Given the description of an element on the screen output the (x, y) to click on. 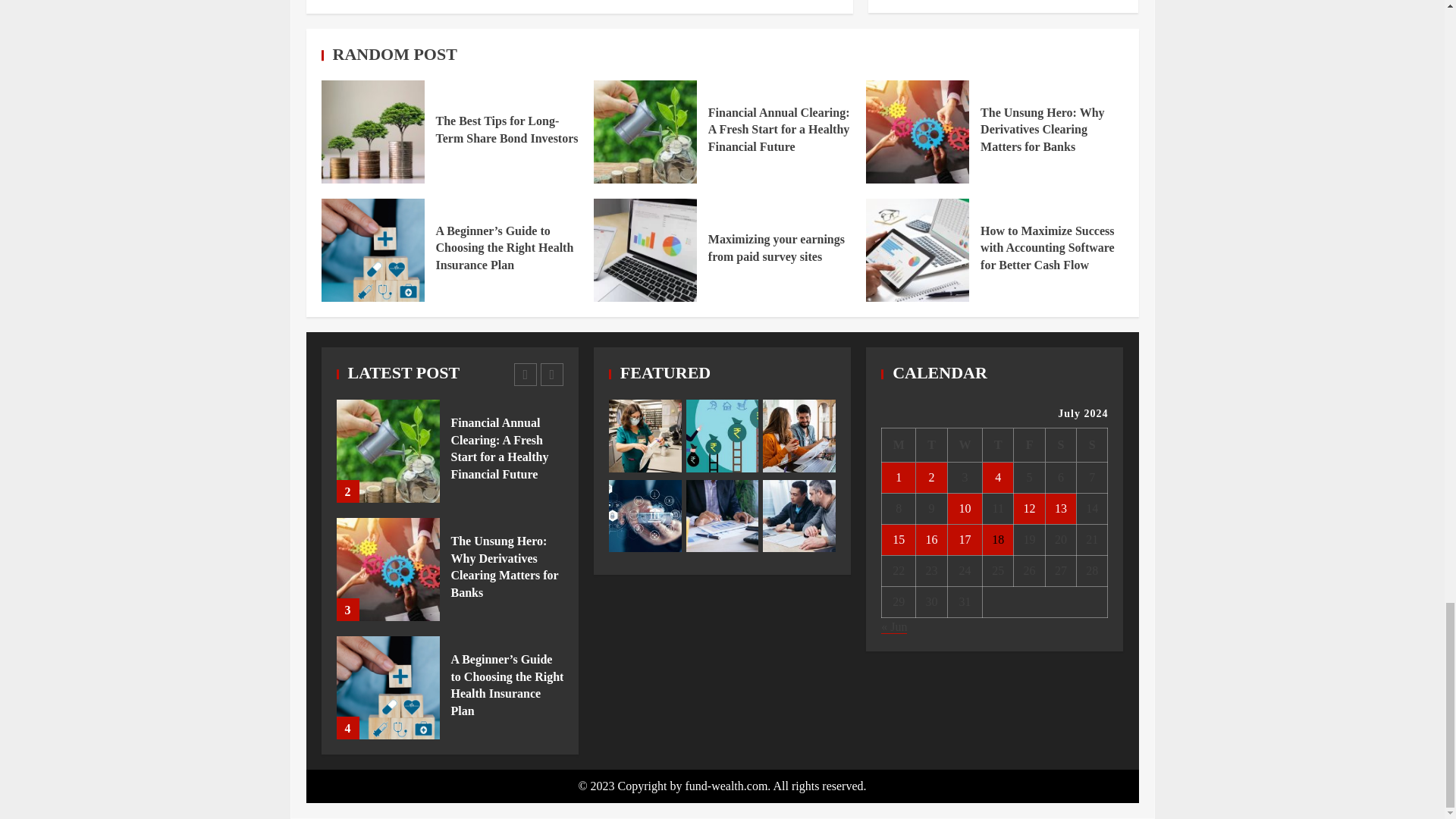
Friday (1029, 444)
Saturday (1060, 444)
Monday (898, 444)
Wednesday (964, 444)
Thursday (997, 444)
Sunday (1092, 444)
Tuesday (931, 444)
